Given the description of an element on the screen output the (x, y) to click on. 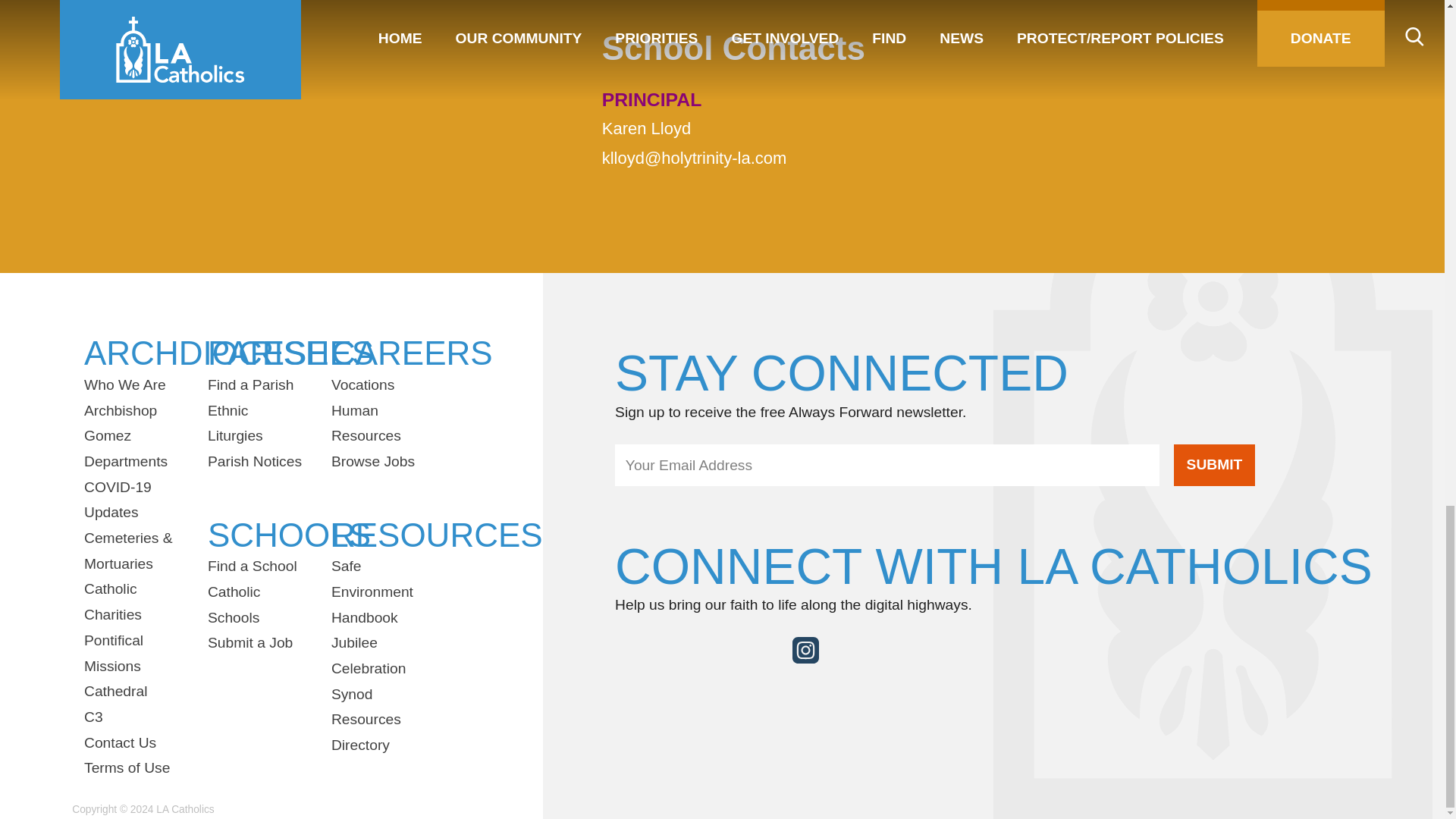
Submit (1214, 465)
